Given the description of an element on the screen output the (x, y) to click on. 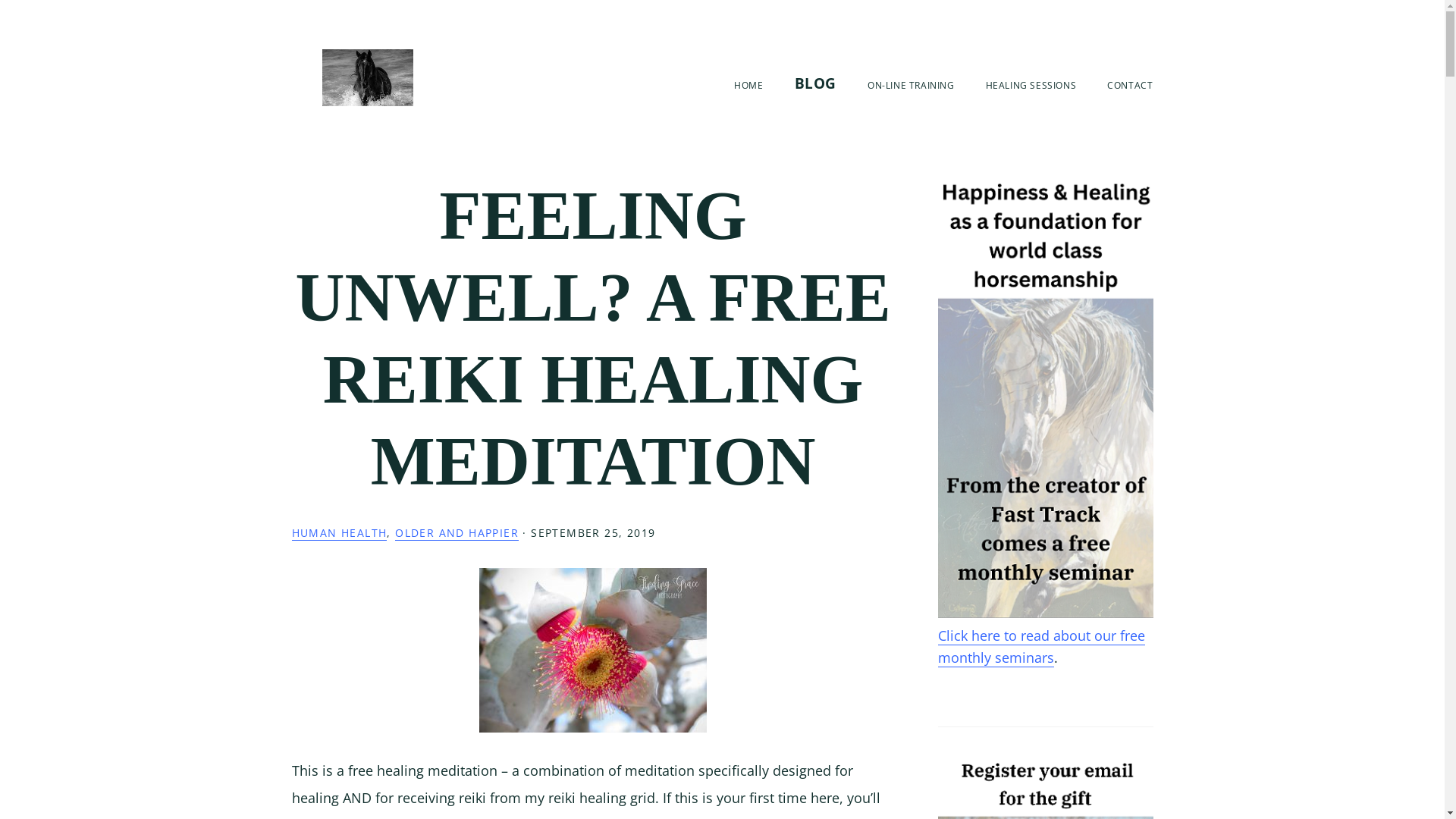
BLOG Element type: text (815, 83)
HEALING SESSIONS Element type: text (1030, 84)
Happiness & Healing for Horses & People Element type: text (366, 77)
OLDER AND HAPPIER Element type: text (456, 532)
Skip to primary navigation Element type: text (175, 0)
HOME Element type: text (748, 84)
Click here to read about our free monthly seminars Element type: text (1040, 646)
ON-LINE TRAINING Element type: text (910, 84)
HUMAN HEALTH Element type: text (338, 532)
CONTACT Element type: text (1129, 84)
